Given the description of an element on the screen output the (x, y) to click on. 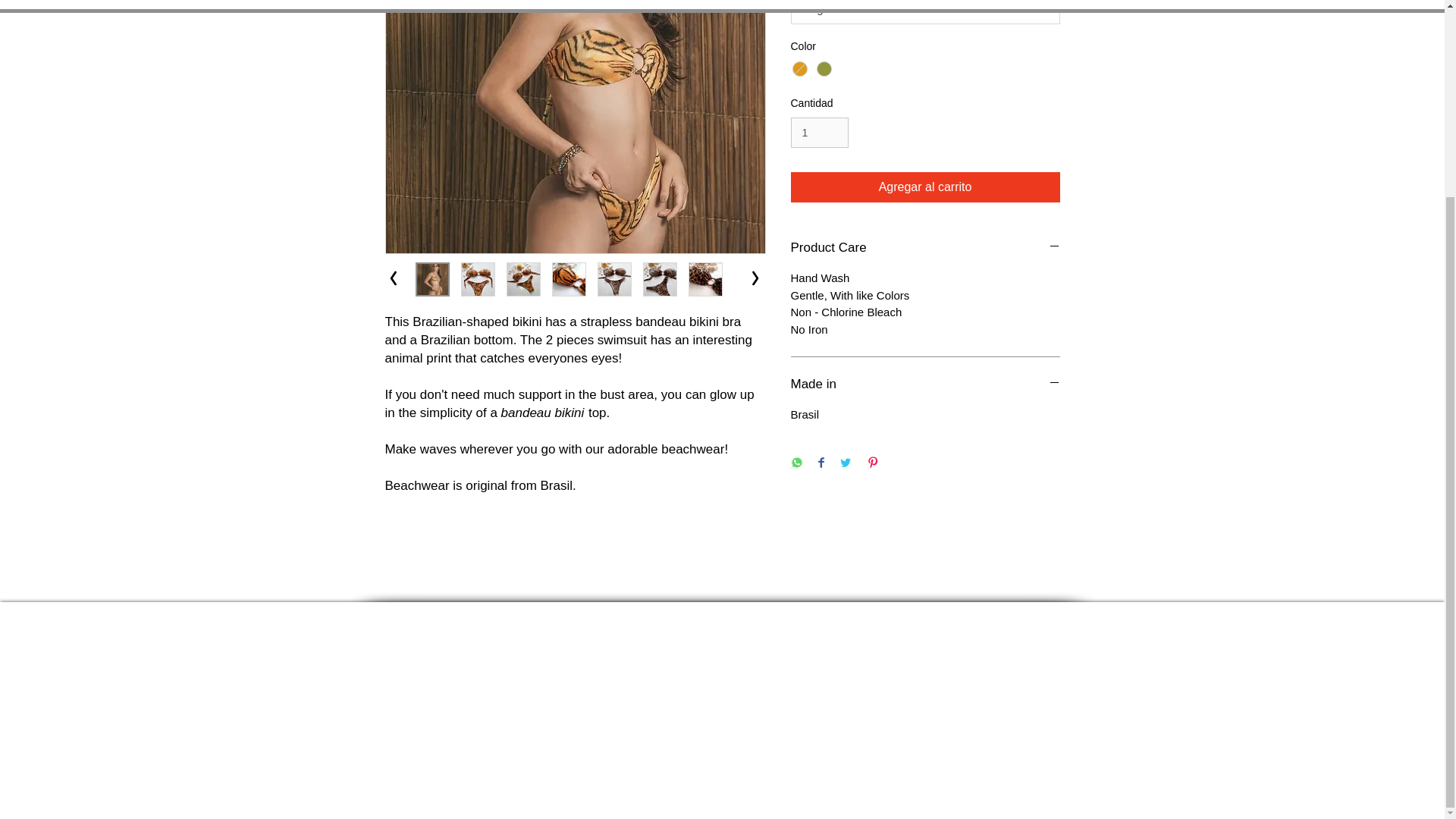
Made in (924, 384)
1 (818, 132)
Elegir (924, 12)
Agregar al carrito (924, 186)
Product Care (924, 248)
Wix.com (860, 695)
